Given the description of an element on the screen output the (x, y) to click on. 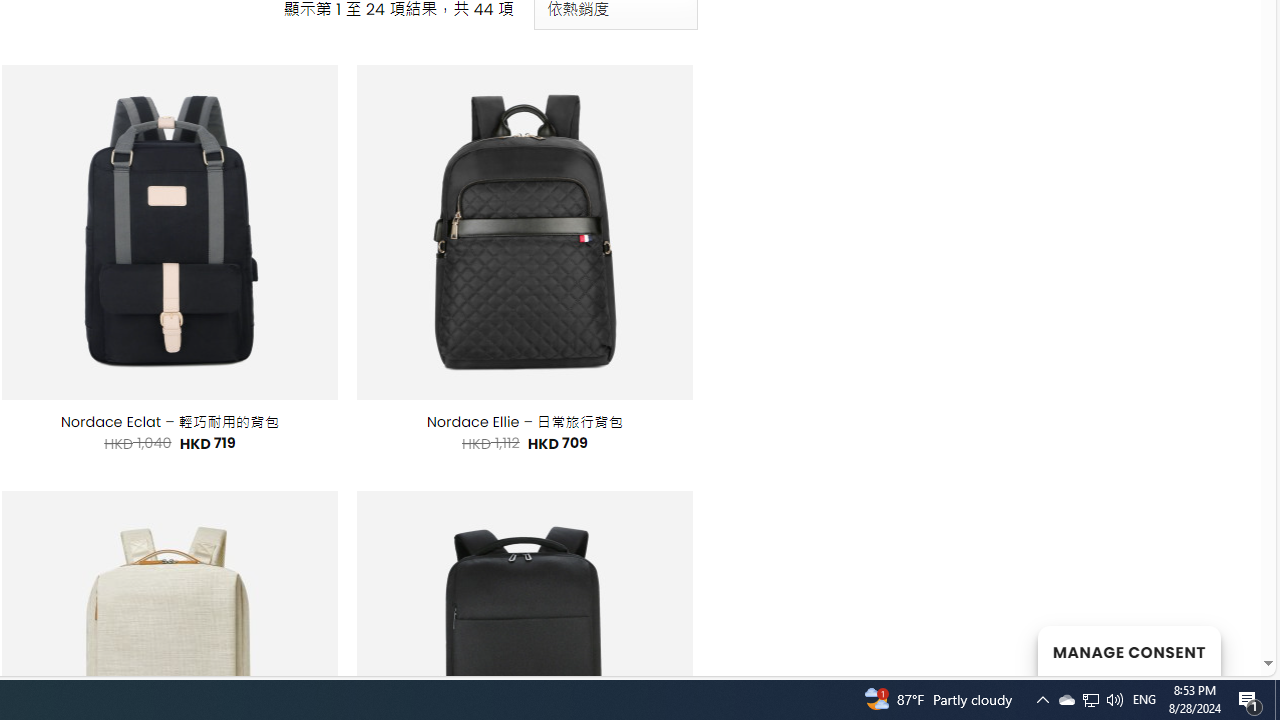
MANAGE CONSENT (1128, 650)
